Given the description of an element on the screen output the (x, y) to click on. 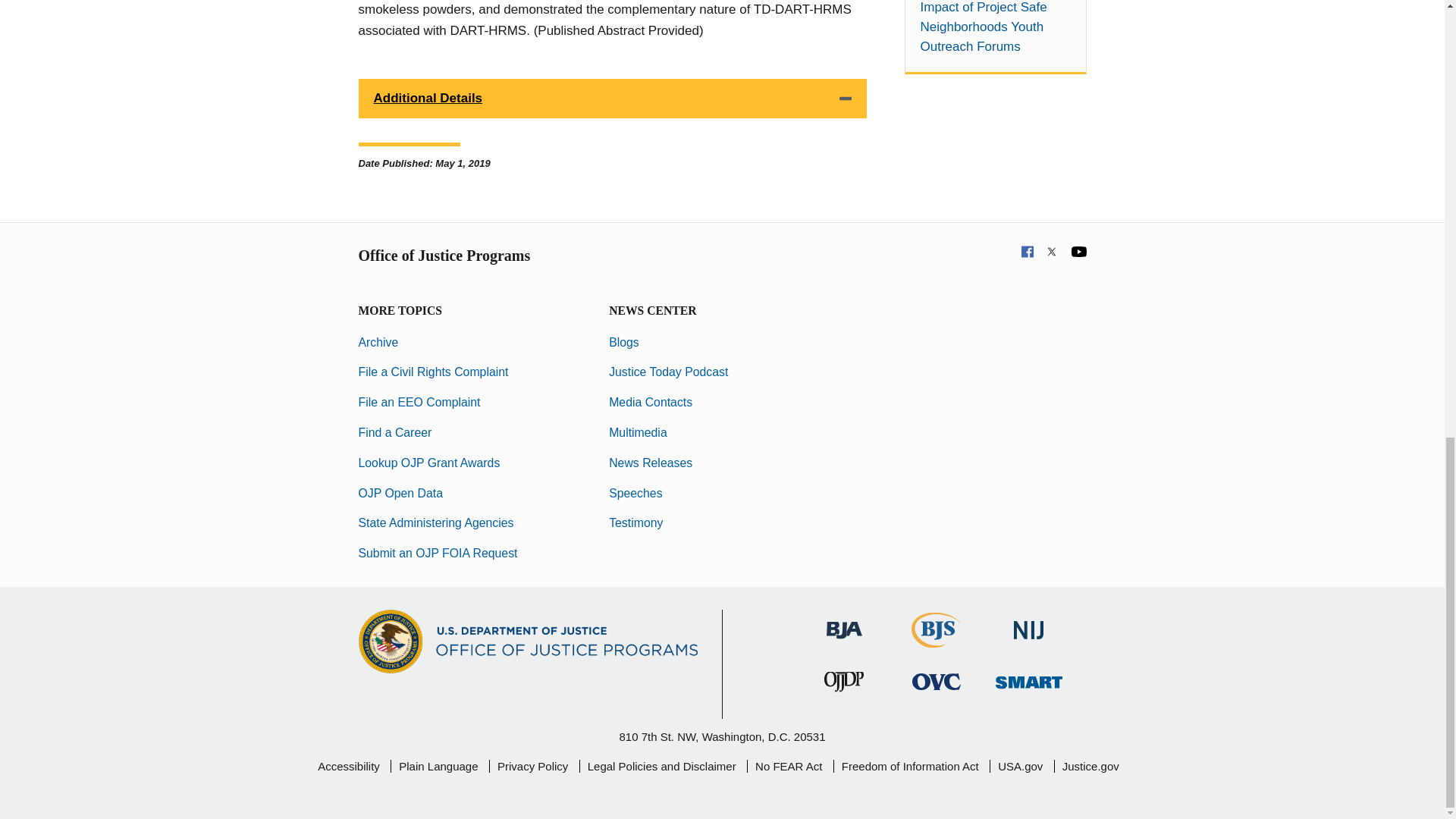
Additional Details (612, 97)
